Given the description of an element on the screen output the (x, y) to click on. 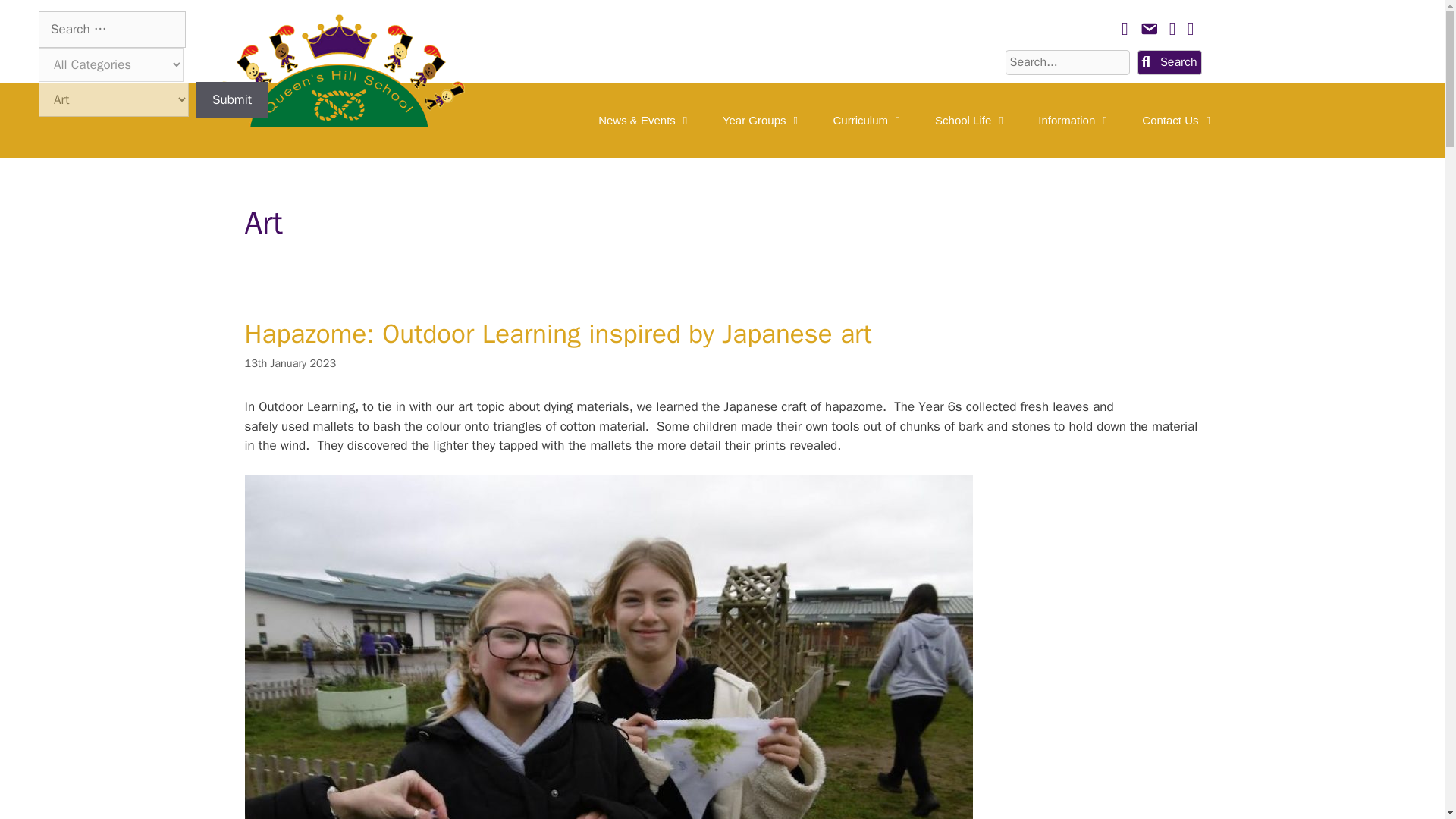
Curriculum (869, 120)
Search (1169, 62)
Submit (231, 99)
Year Groups (762, 120)
